Given the description of an element on the screen output the (x, y) to click on. 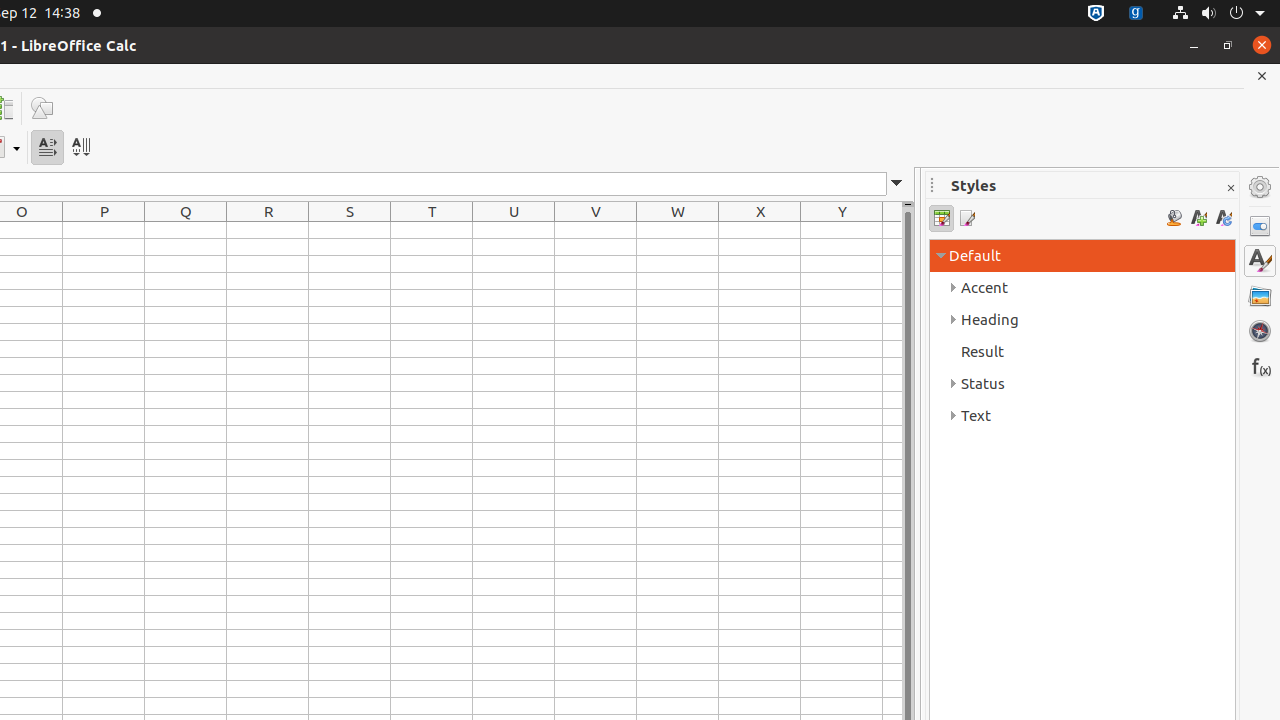
P1 Element type: table-cell (104, 230)
R1 Element type: table-cell (268, 230)
Page Styles Element type: push-button (966, 218)
V1 Element type: table-cell (596, 230)
